Given the description of an element on the screen output the (x, y) to click on. 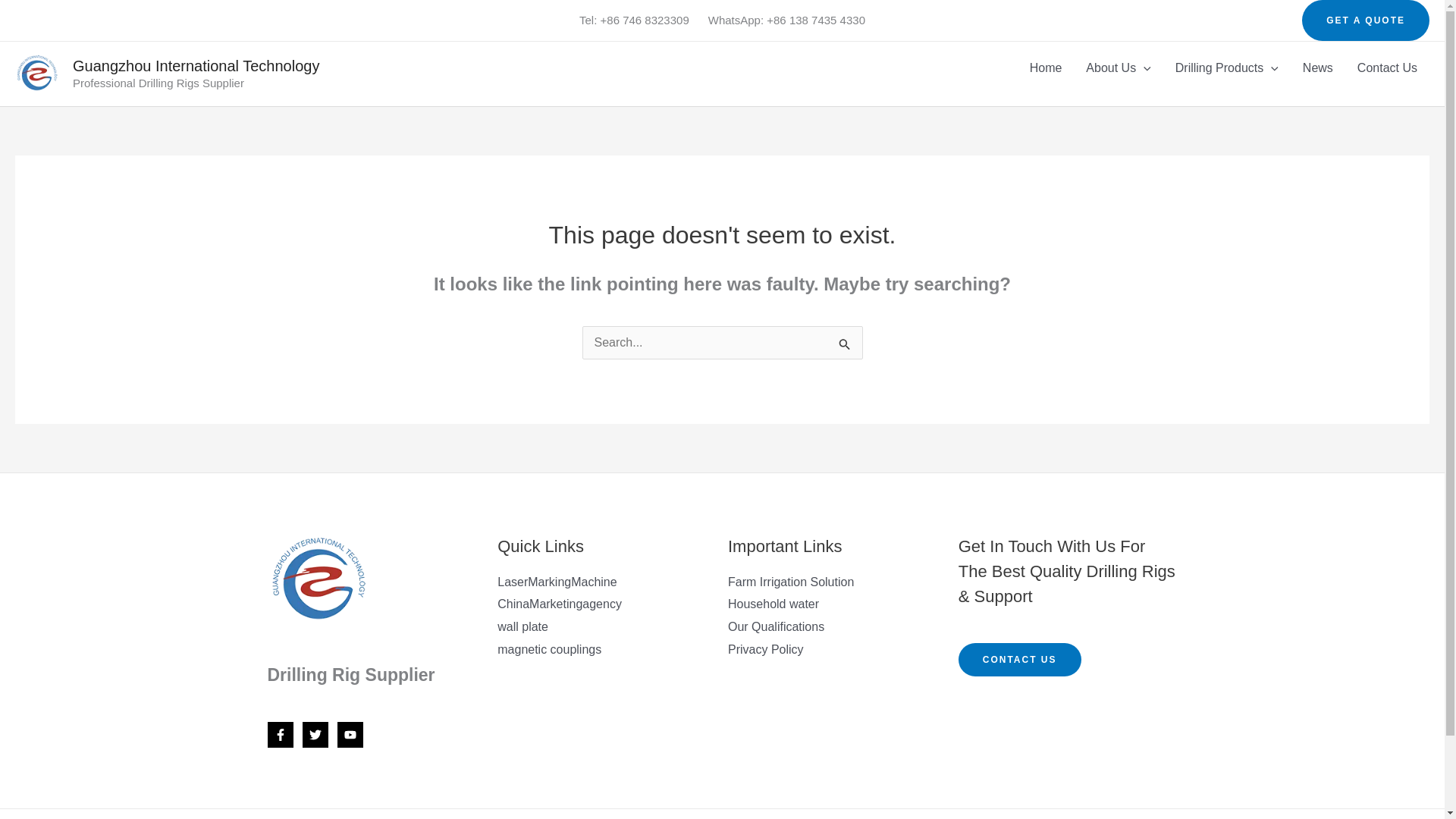
Drilling Products (1226, 68)
Guangzhou International Technology (195, 65)
Contact Us (1387, 68)
News (1317, 68)
Search (844, 343)
About Us (1117, 68)
GET A QUOTE (1365, 20)
Search (844, 343)
Home (1045, 68)
